Given the description of an element on the screen output the (x, y) to click on. 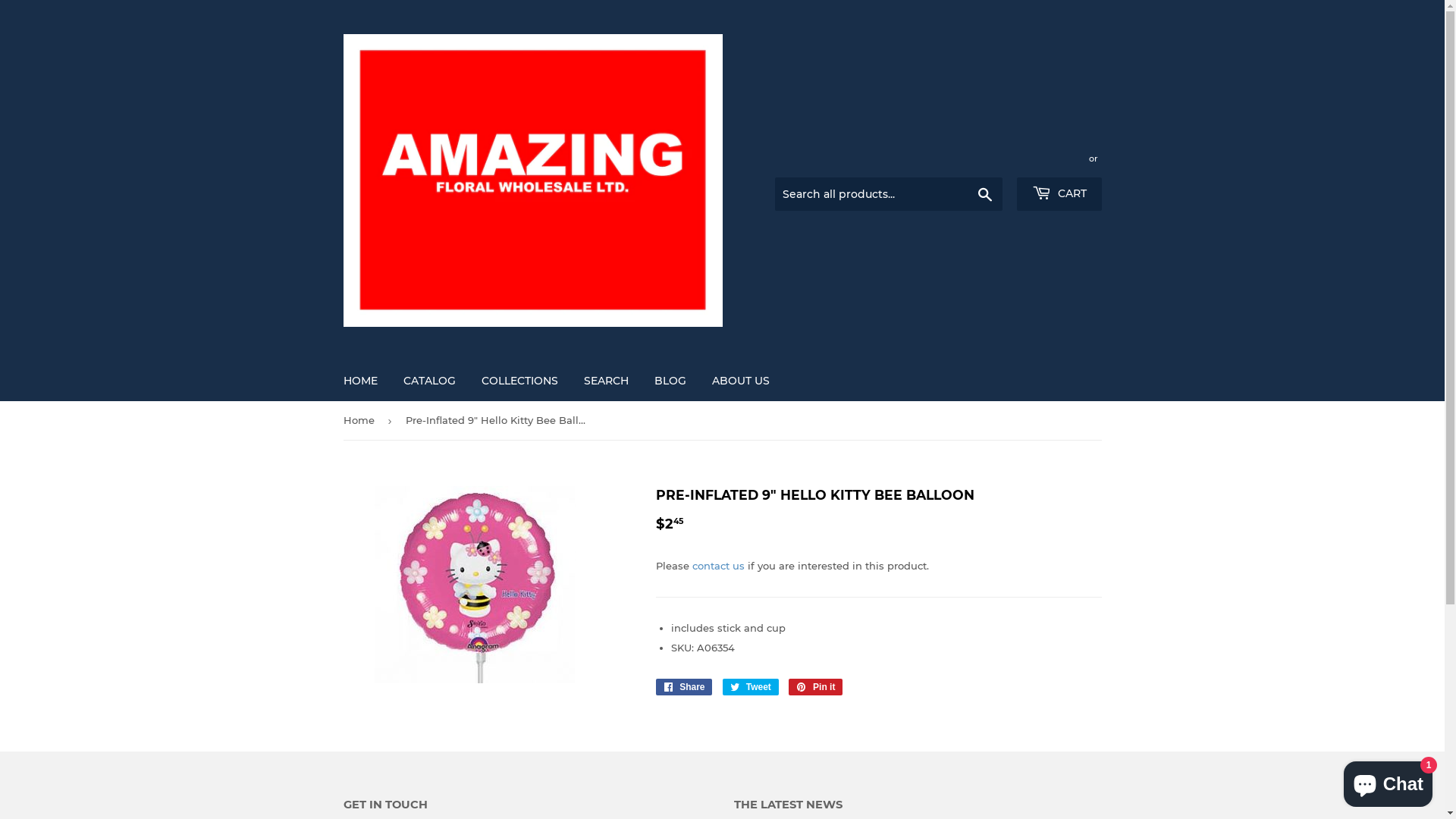
COLLECTIONS Element type: text (519, 380)
CART Element type: text (1058, 193)
Tweet
Tweet on Twitter Element type: text (750, 686)
HOME Element type: text (360, 380)
Share
Share on Facebook Element type: text (683, 686)
Pin it
Pin on Pinterest Element type: text (815, 686)
ABOUT US Element type: text (740, 380)
contact us Element type: text (717, 565)
BLOG Element type: text (670, 380)
CATALOG Element type: text (428, 380)
Shopify online store chat Element type: hover (1388, 780)
Home Element type: text (360, 420)
Search Element type: text (984, 194)
SEARCH Element type: text (605, 380)
